Given the description of an element on the screen output the (x, y) to click on. 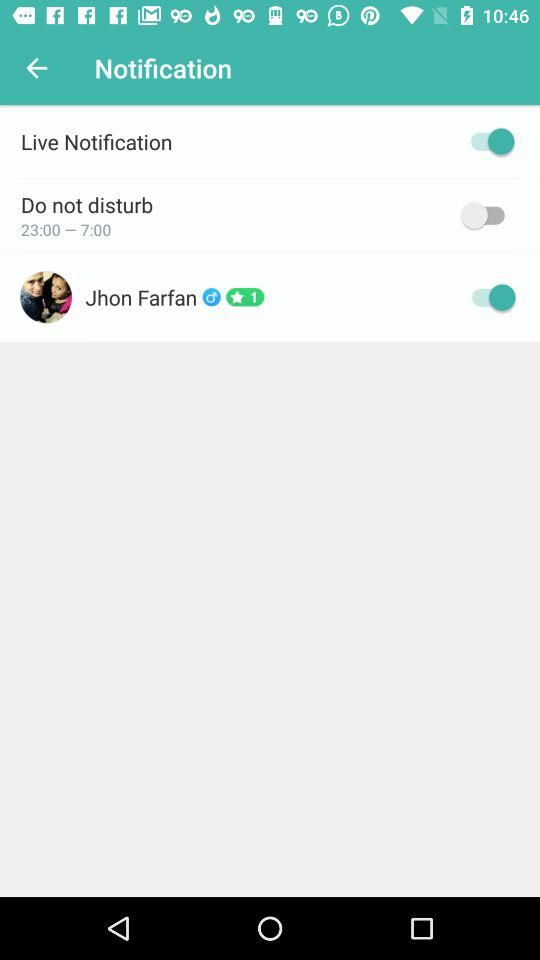
enable do not disturb (487, 215)
